Given the description of an element on the screen output the (x, y) to click on. 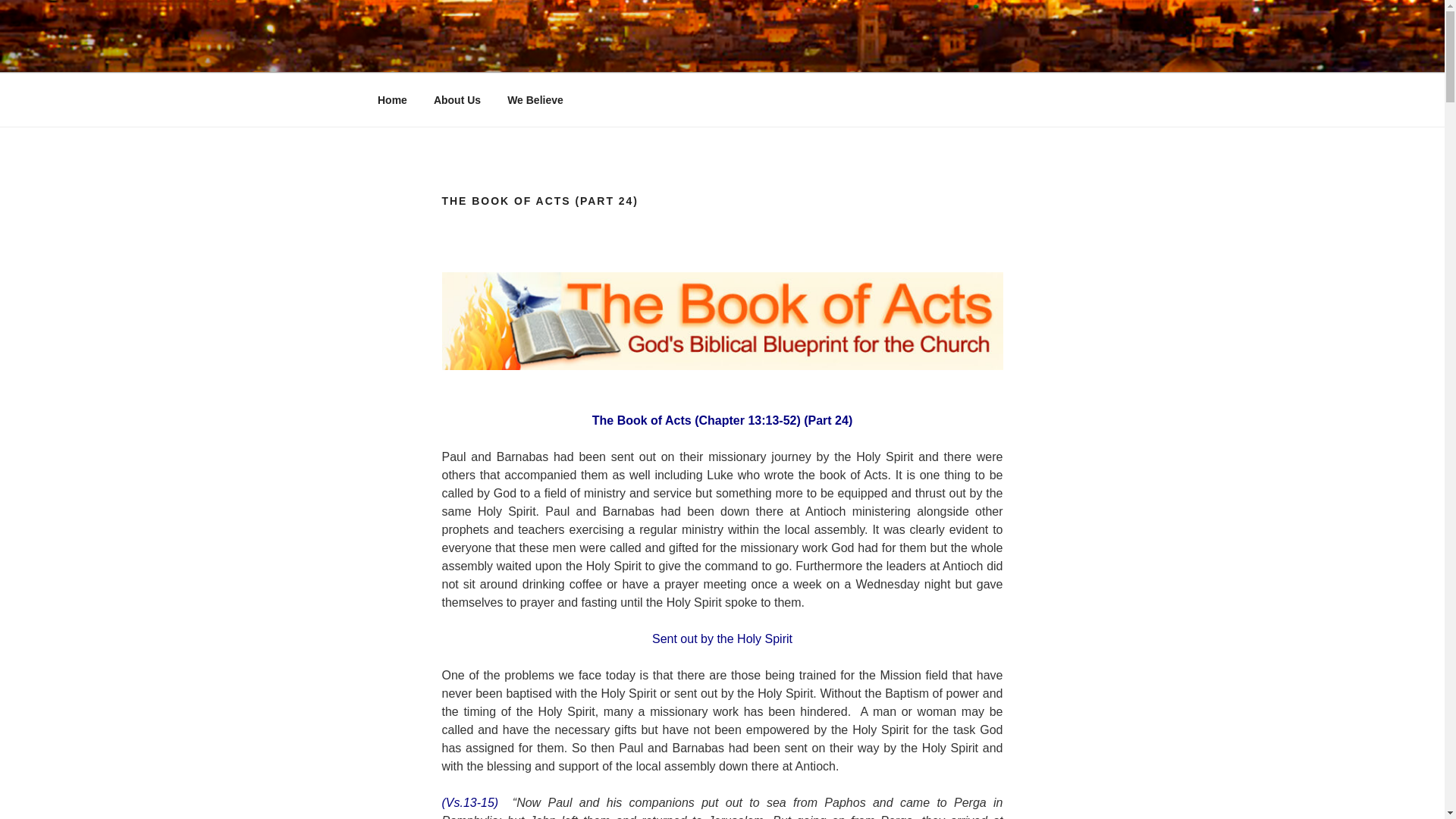
About Us (456, 99)
Home (392, 99)
We Believe (535, 99)
